Given the description of an element on the screen output the (x, y) to click on. 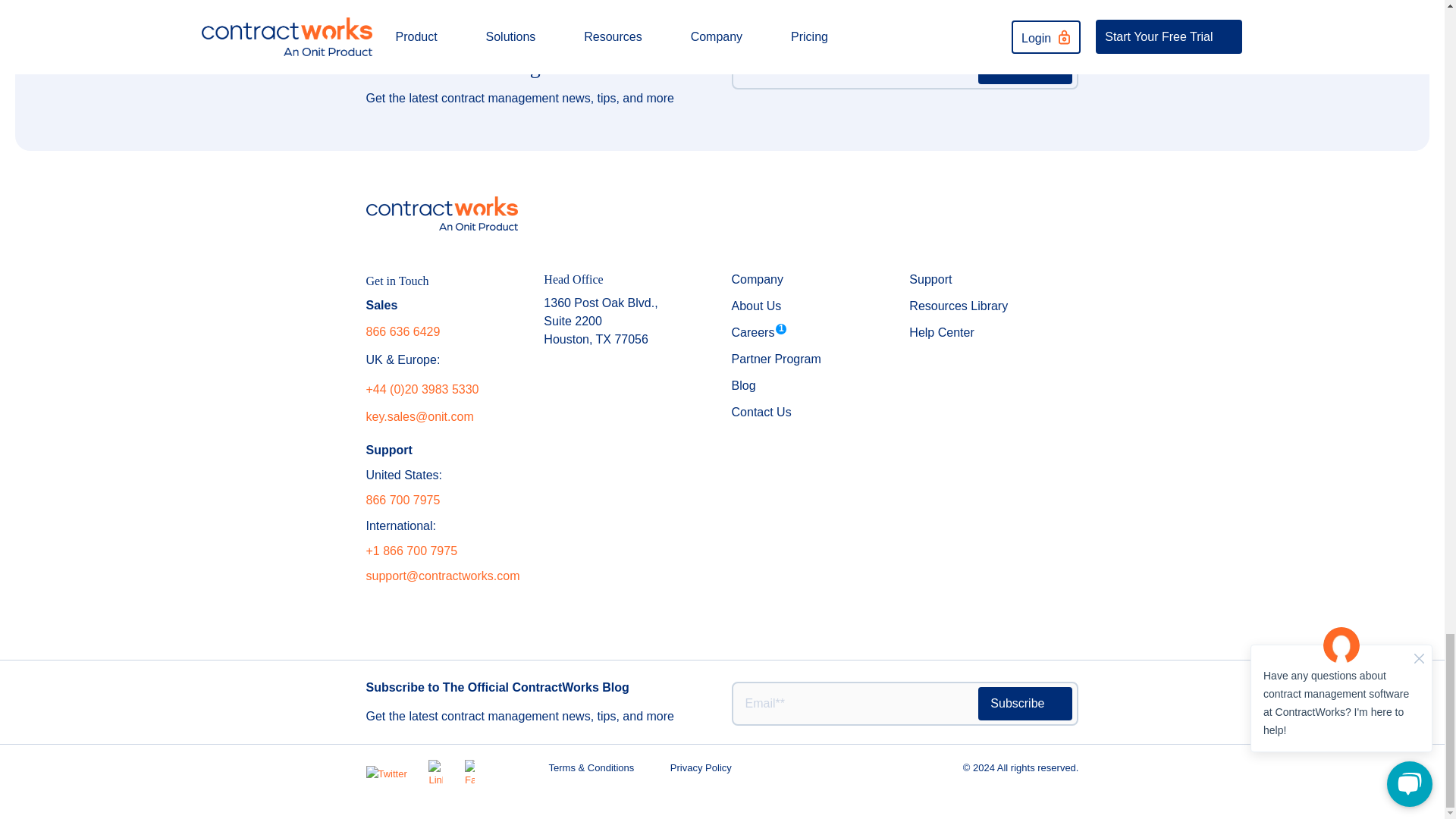
Subscribe (1024, 703)
Subscribe (1024, 67)
